Given the description of an element on the screen output the (x, y) to click on. 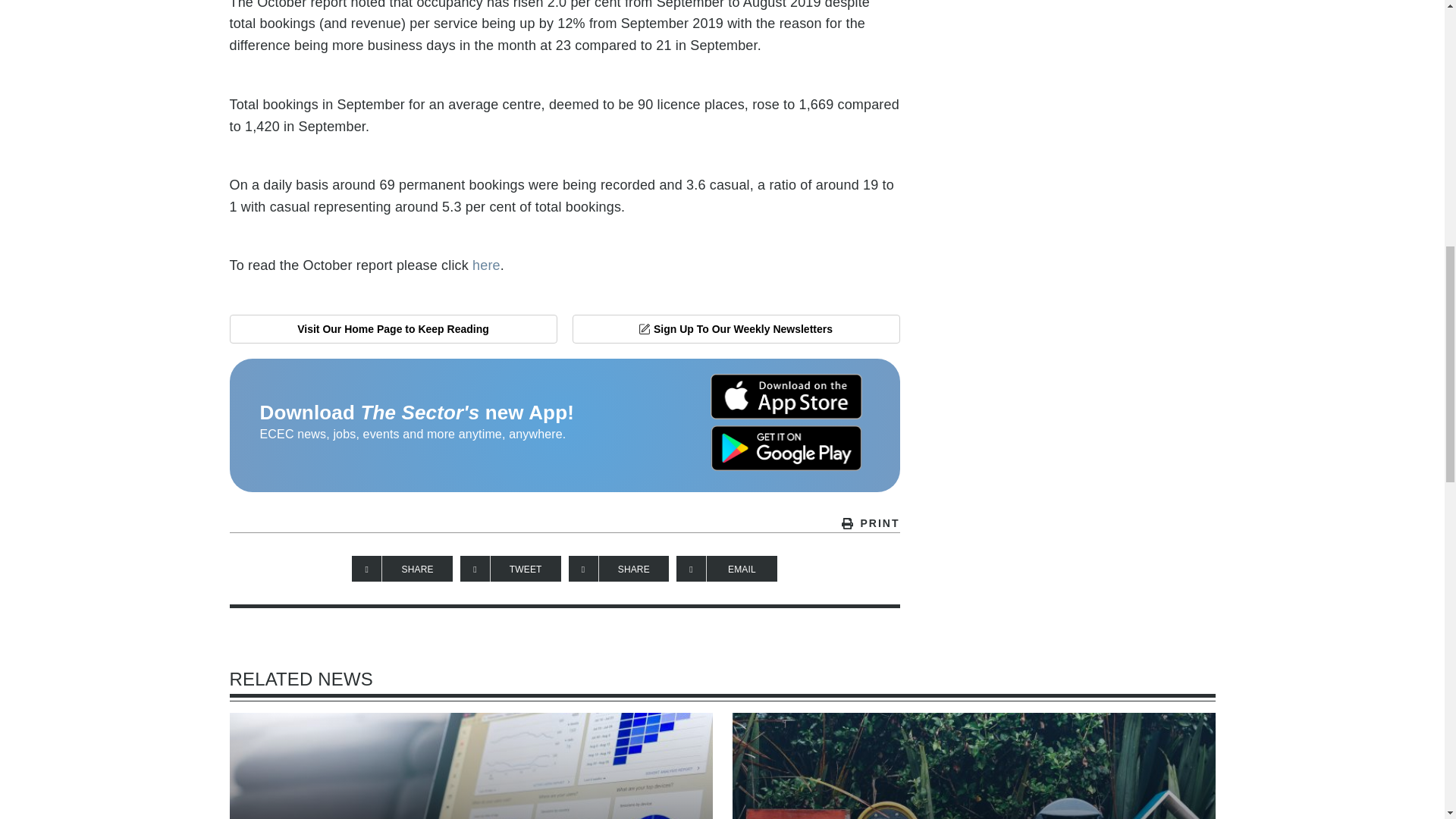
Visit Our Home Page to Keep Reading (392, 328)
Share on LinkedIn (619, 568)
Share on Facebook (402, 568)
here (485, 264)
Share on Email (727, 568)
Tweet (510, 568)
Sign Up To Our Weekly Newsletters (735, 328)
